Given the description of an element on the screen output the (x, y) to click on. 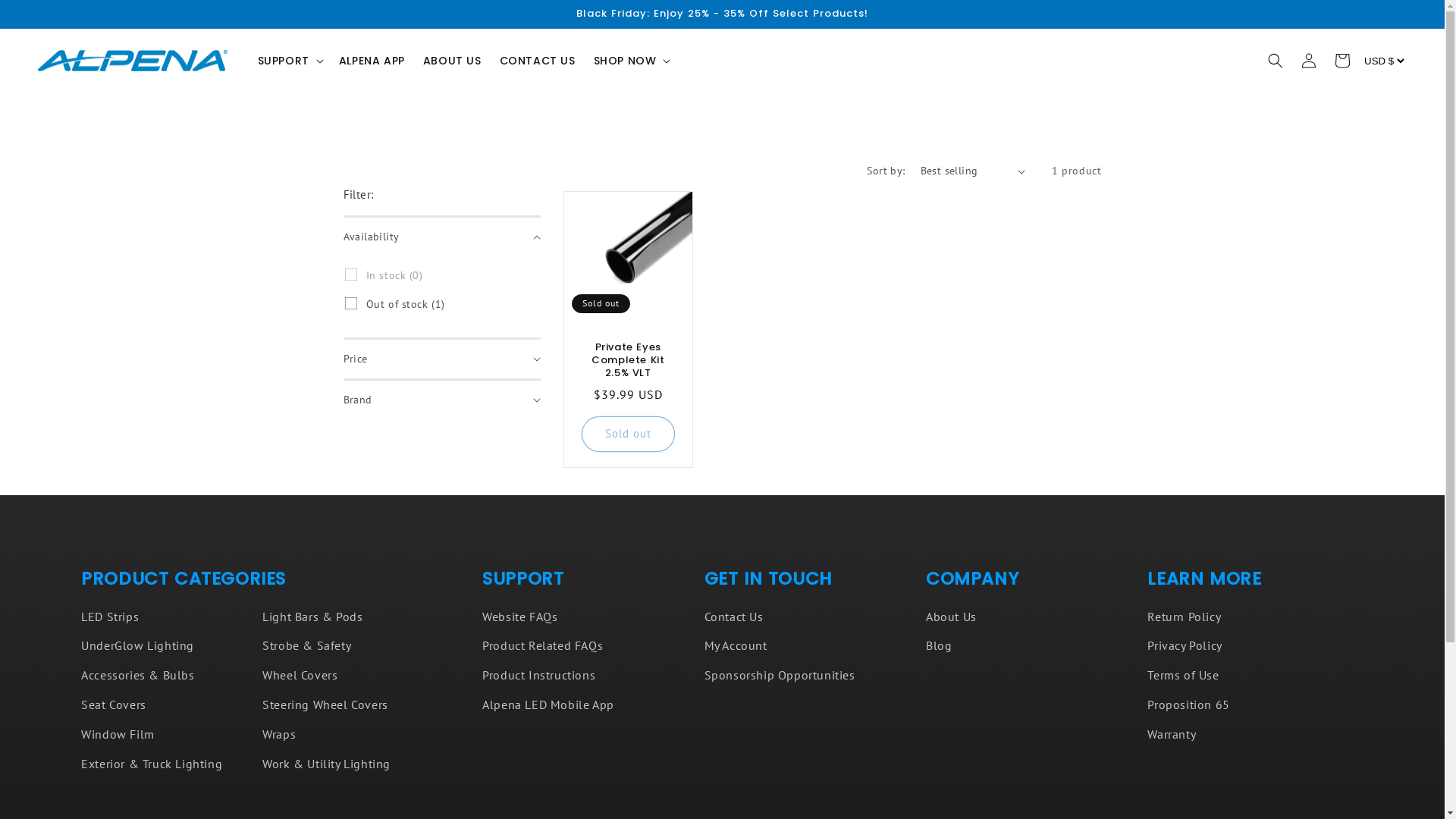
Sold out Element type: text (627, 433)
Work & Utility Lighting Element type: text (326, 763)
ABOUT US Element type: text (452, 60)
Alpena LED Mobile App Element type: text (548, 704)
Return Policy Element type: text (1183, 618)
Wheel Covers Element type: text (299, 675)
My Account Element type: text (735, 645)
Strobe & Safety Element type: text (306, 645)
Private Eyes Complete Kit 2.5% VLT Element type: text (628, 360)
Seat Covers Element type: text (113, 704)
Product Related FAQs Element type: text (542, 645)
Blog Element type: text (938, 645)
ALPENA APP Element type: text (371, 60)
CONTACT US Element type: text (537, 60)
Log in Element type: text (1308, 60)
Wraps Element type: text (278, 734)
Accessories & Bulbs Element type: text (137, 675)
Product Instructions Element type: text (538, 675)
Privacy Policy Element type: text (1184, 645)
UnderGlow Lighting Element type: text (137, 645)
LED Strips Element type: text (109, 618)
Contact Us Element type: text (733, 618)
Website FAQs Element type: text (519, 618)
Exterior & Truck Lighting Element type: text (151, 763)
Proposition 65 Element type: text (1188, 704)
Warranty Element type: text (1171, 734)
Cart Element type: text (1341, 60)
Light Bars & Pods Element type: text (312, 618)
Window Film Element type: text (117, 734)
About Us Element type: text (950, 618)
Sponsorship Opportunities Element type: text (779, 675)
Steering Wheel Covers Element type: text (325, 704)
Terms of Use Element type: text (1182, 675)
